Given the description of an element on the screen output the (x, y) to click on. 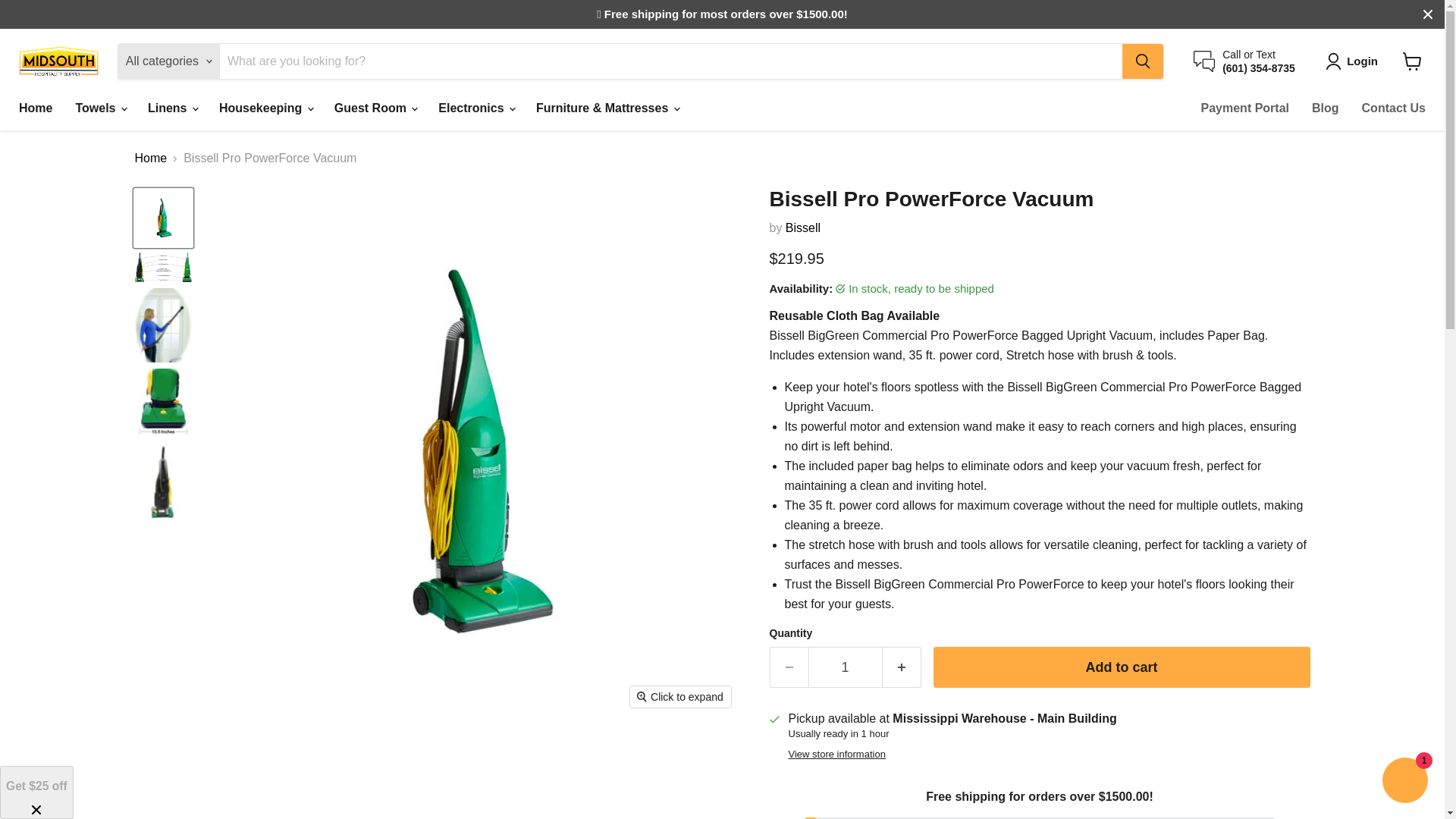
Login (1354, 61)
Home (35, 108)
Shopify online store chat (1404, 781)
View cart (1411, 61)
1 (845, 667)
Bissell (803, 227)
